Given the description of an element on the screen output the (x, y) to click on. 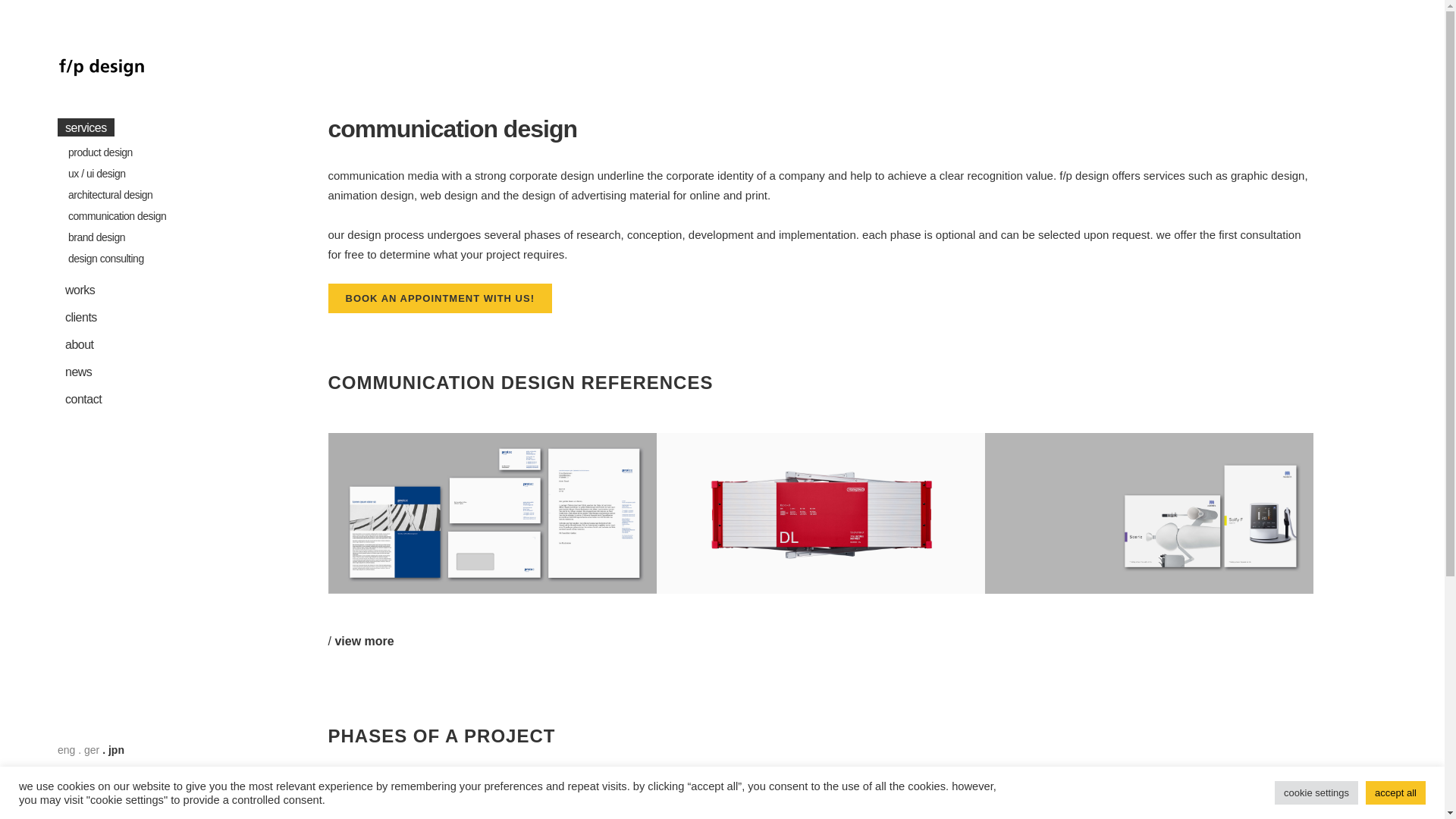
clients (141, 317)
services (141, 127)
ger (91, 749)
eng (66, 749)
design consulting (151, 258)
jpn (115, 749)
communication design (151, 215)
product design (151, 151)
news (141, 371)
jpn (115, 749)
about (141, 344)
eng (66, 749)
contact (141, 399)
ger (91, 749)
architectural design (151, 194)
